Given the description of an element on the screen output the (x, y) to click on. 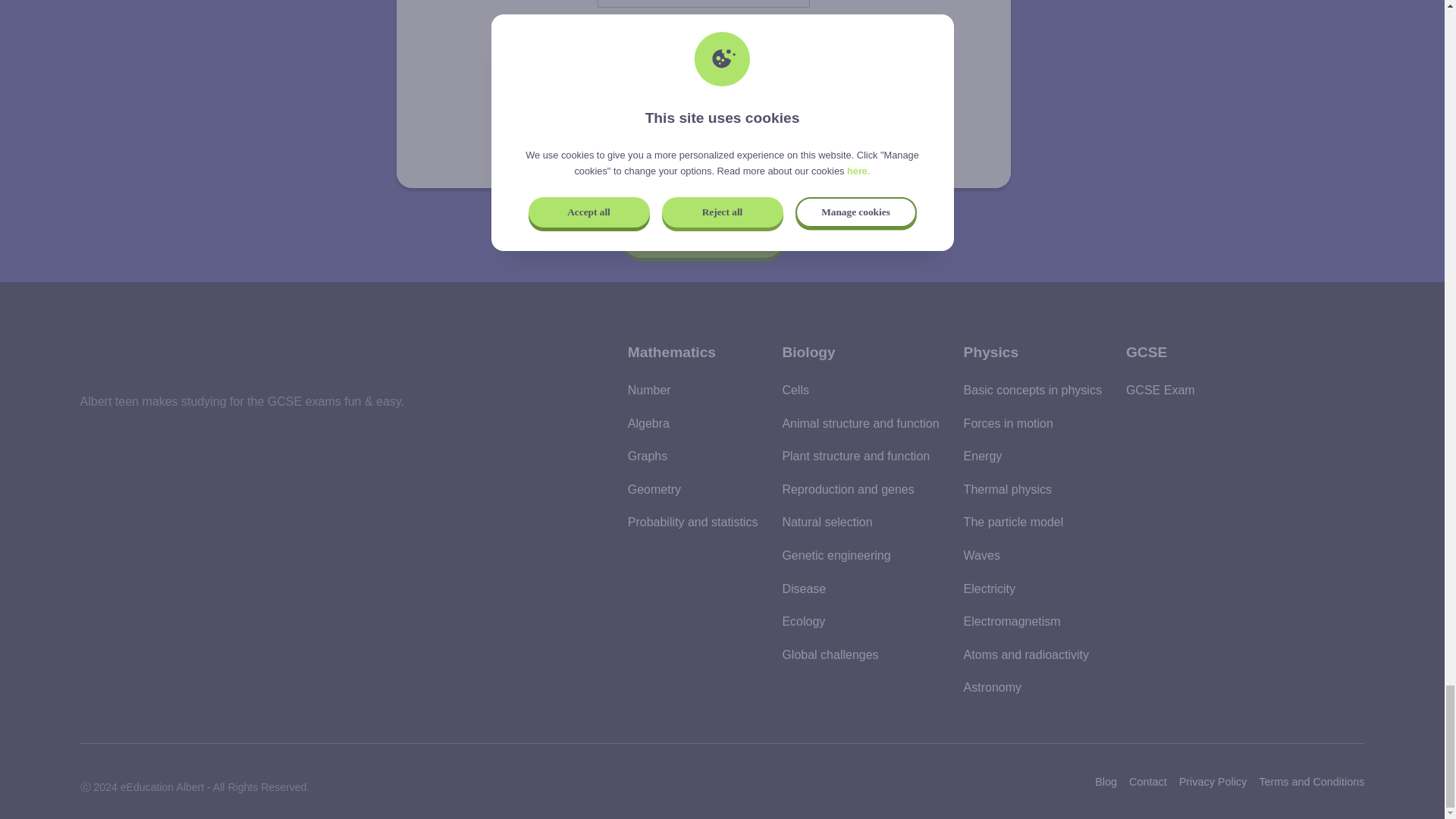
Submit (702, 135)
Finish lesson (703, 233)
